Given the description of an element on the screen output the (x, y) to click on. 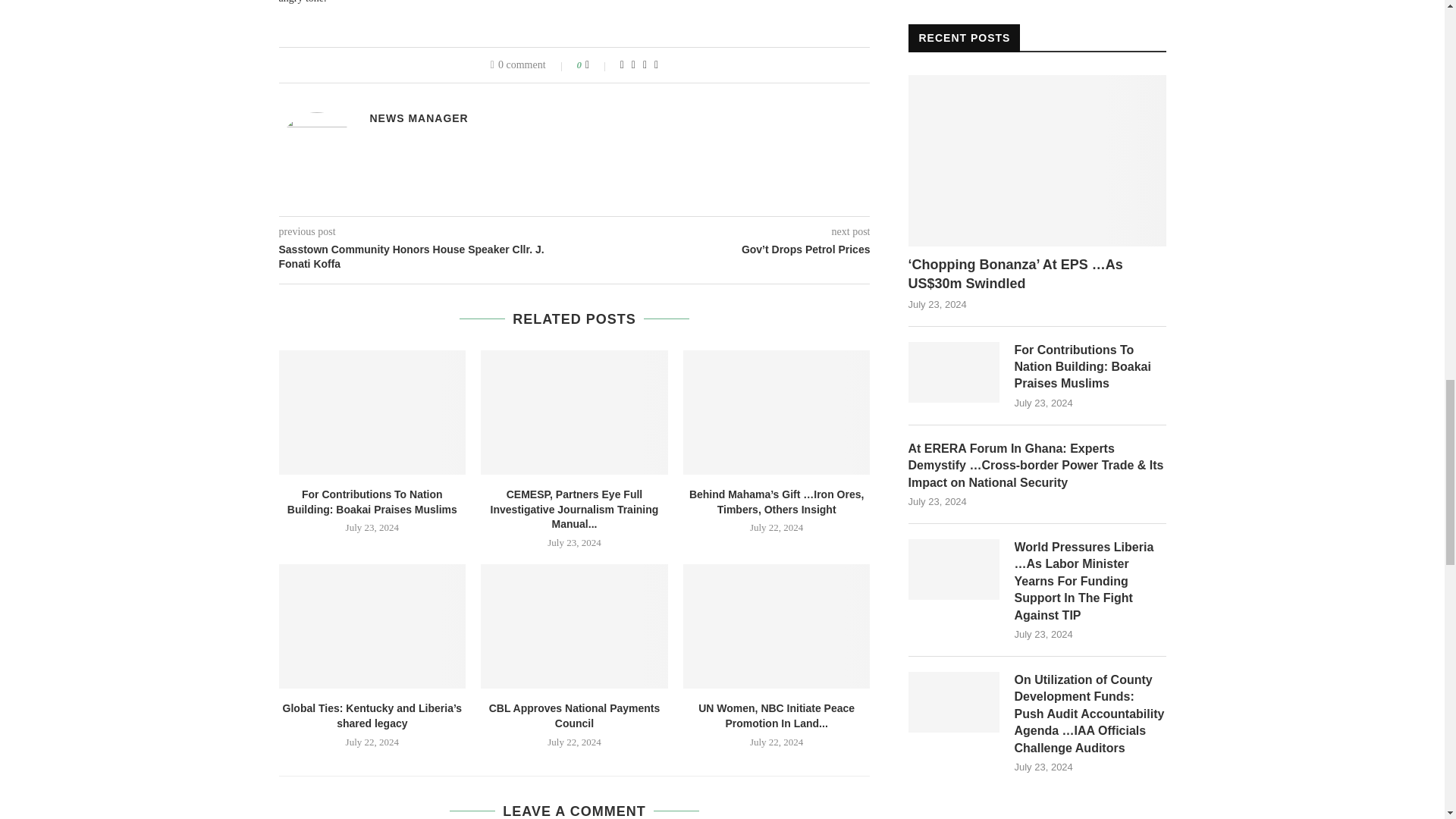
Like (597, 64)
For Contributions To Nation Building: Boakai Praises Muslims (953, 372)
For Contributions To Nation Building: Boakai Praises Muslims (372, 412)
Posts by News Manager (418, 118)
CBL Approves National Payments Council (574, 626)
UN Women, NBC Initiate Peace Promotion In Land Governance (776, 626)
